Given the description of an element on the screen output the (x, y) to click on. 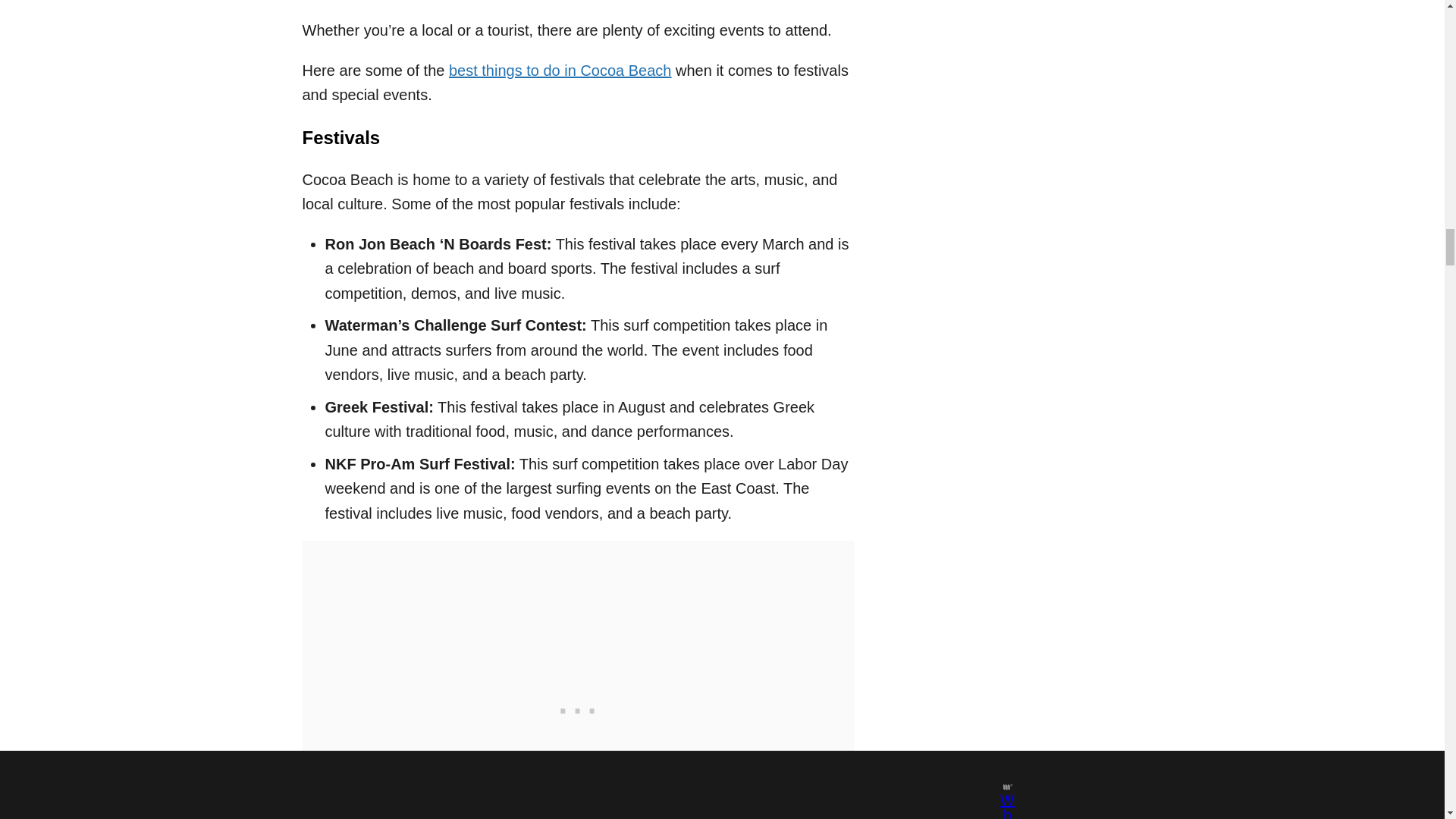
best things to do in Cocoa Beach (559, 70)
